Given the description of an element on the screen output the (x, y) to click on. 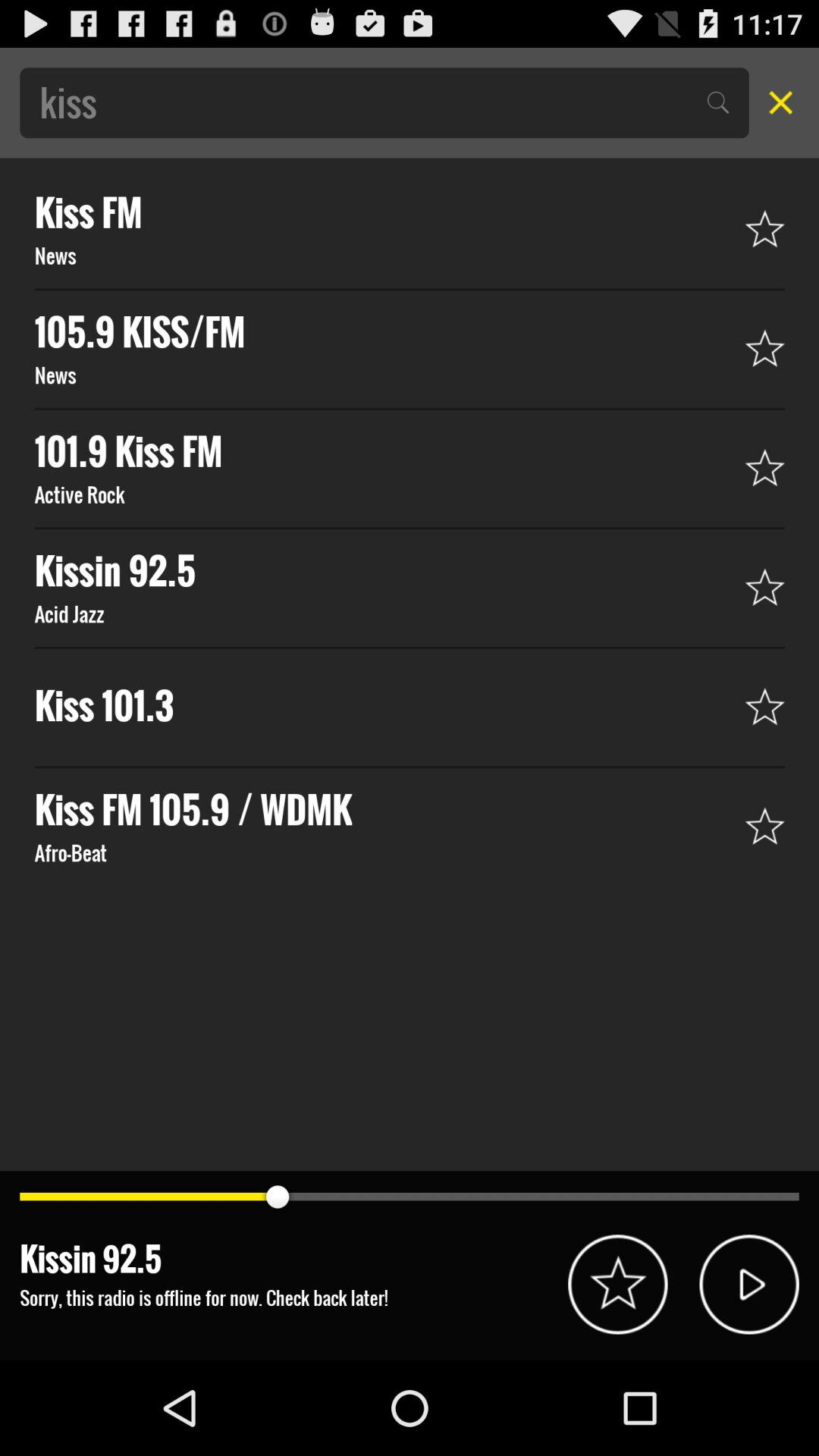
favorites option (617, 1284)
